Given the description of an element on the screen output the (x, y) to click on. 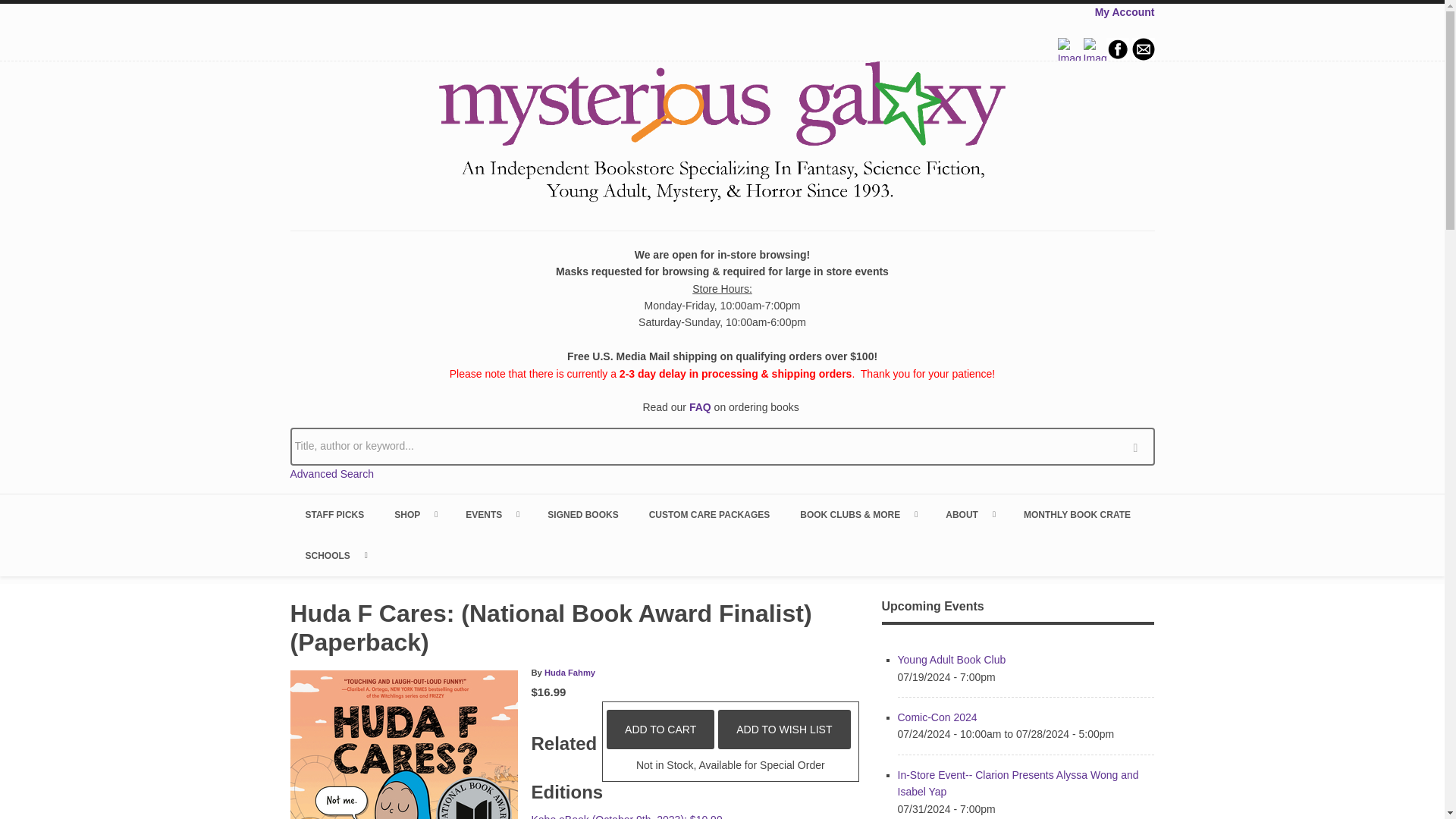
My Account (1124, 11)
FAQ (699, 407)
Add to Wish List (783, 729)
EVENTS (490, 514)
STAFF PICKS (333, 514)
SHOP (413, 514)
Add to Cart (660, 729)
Home (722, 134)
Title, author or keyword... (721, 446)
Advanced Search (331, 473)
